Given the description of an element on the screen output the (x, y) to click on. 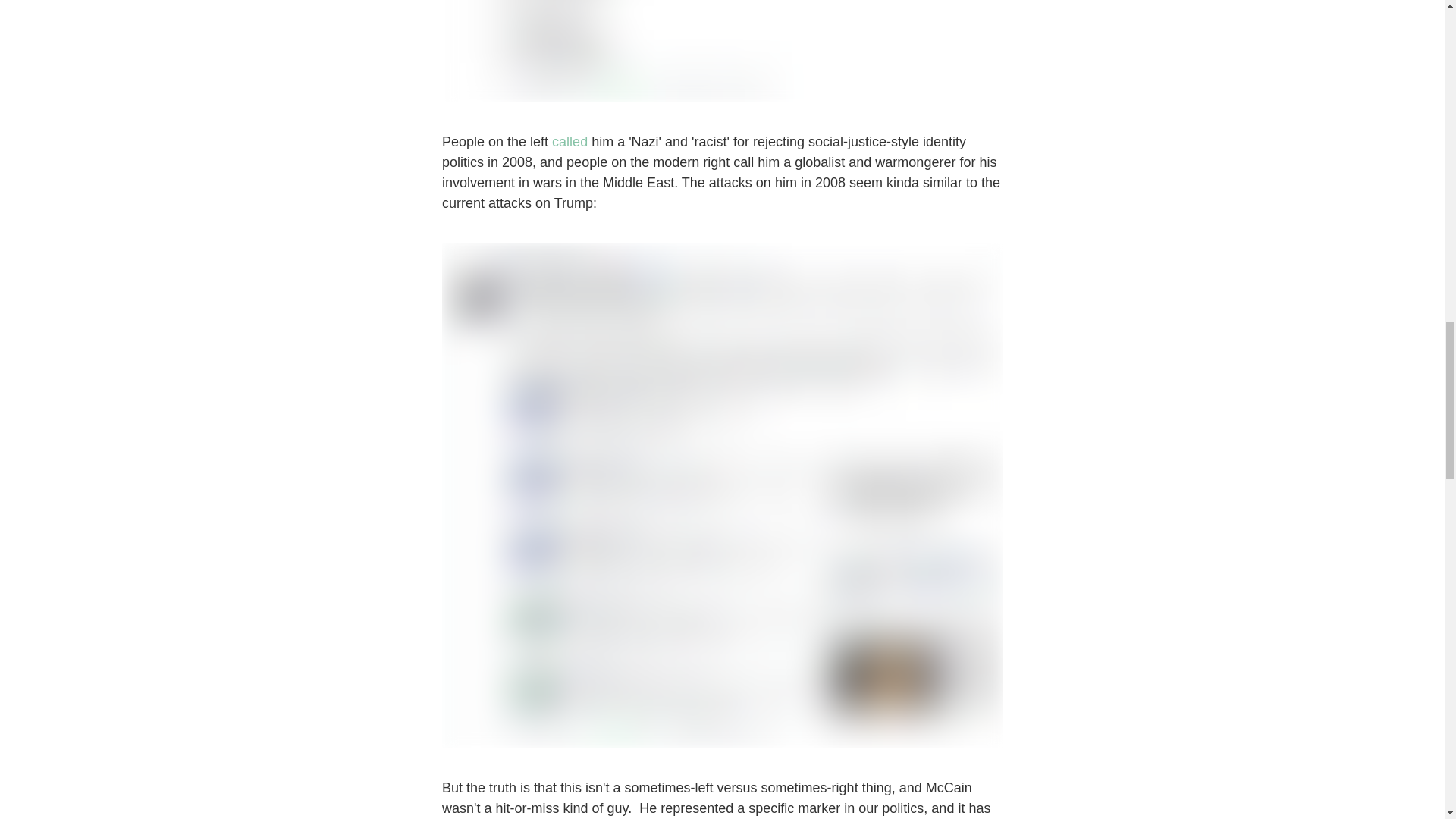
called (569, 141)
